Given the description of an element on the screen output the (x, y) to click on. 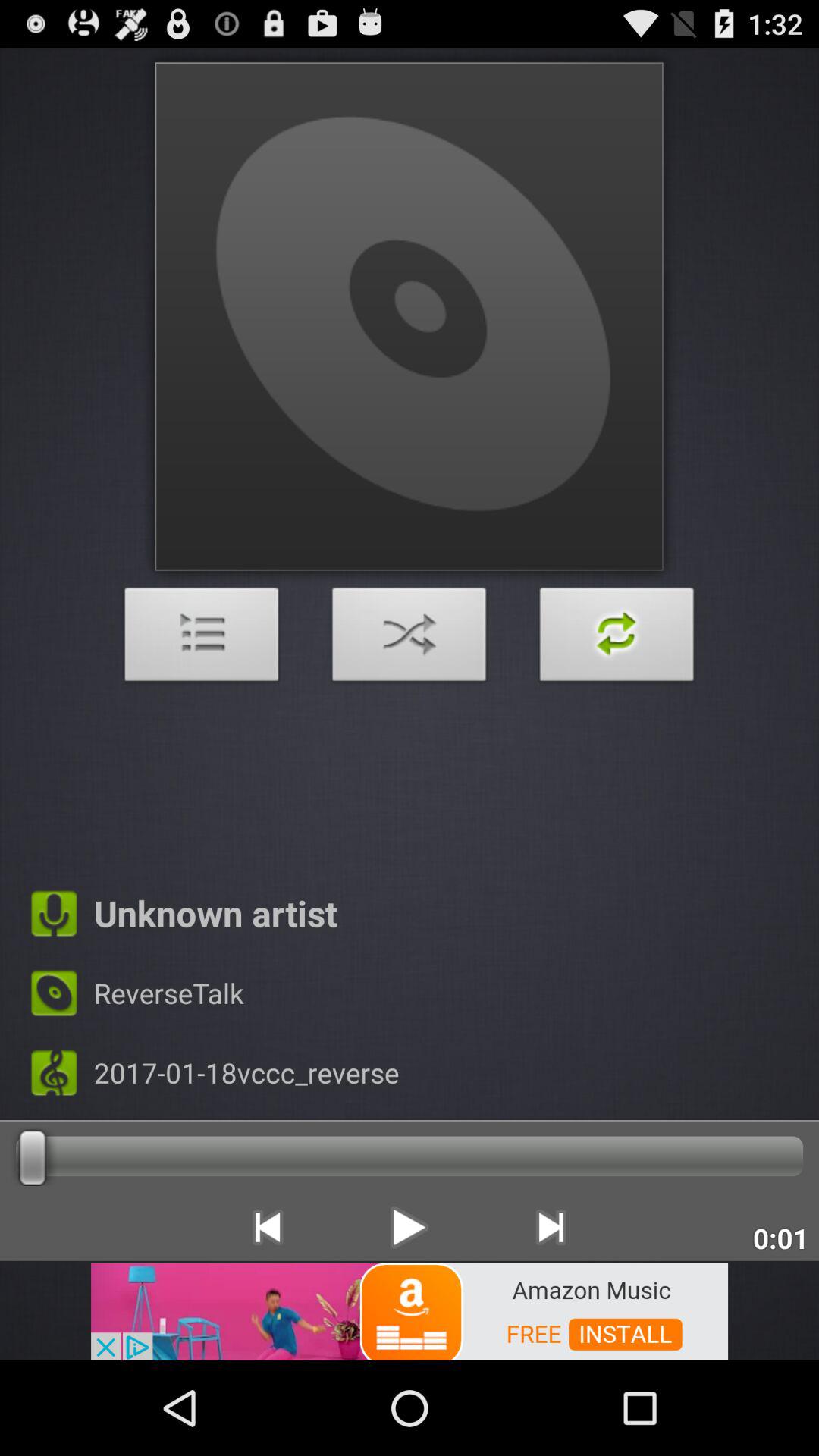
view advertisement (409, 1310)
